Given the description of an element on the screen output the (x, y) to click on. 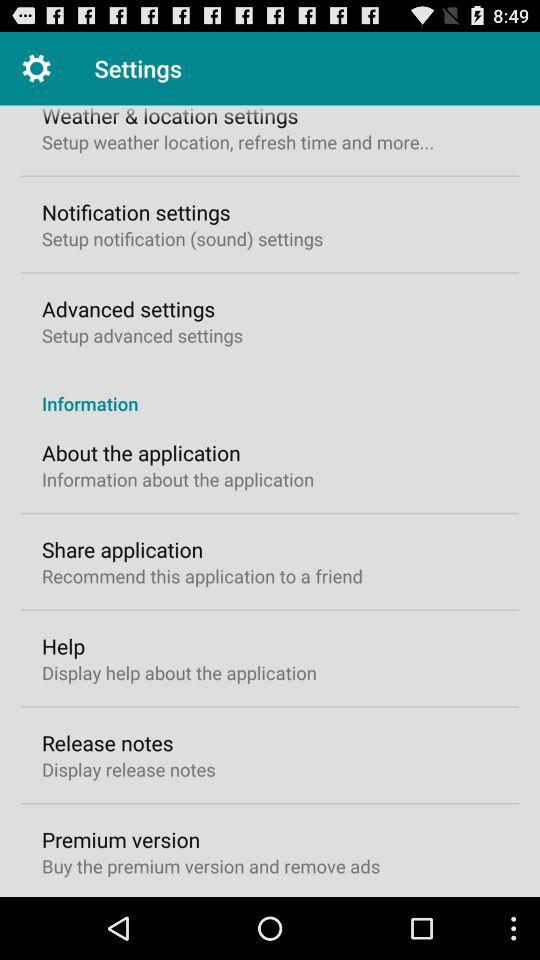
swipe to the buy the premium item (211, 865)
